Given the description of an element on the screen output the (x, y) to click on. 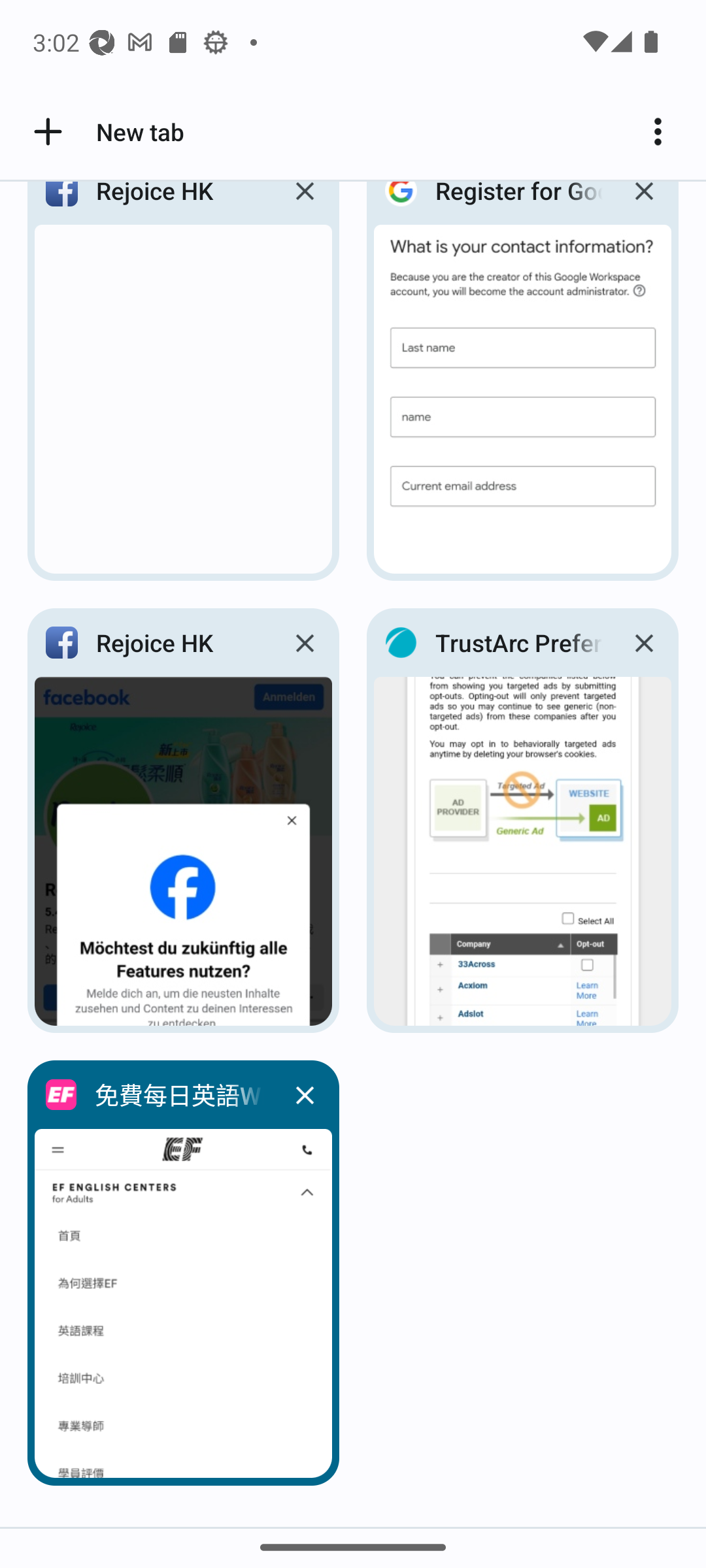
New tab (105, 131)
More options (664, 131)
Rejoice HK Rejoice HK, tab Close Rejoice HK tab (183, 387)
Close Rejoice HK tab (304, 206)
Close Register for Google Workspace tab (643, 206)
Rejoice HK Rejoice HK, tab Close Rejoice HK tab (183, 820)
Close Rejoice HK tab (304, 642)
Close TrustArc Preference Manager tab (643, 642)
Close 免費每日英語WhatsApp頻道 tab (304, 1094)
